Given the description of an element on the screen output the (x, y) to click on. 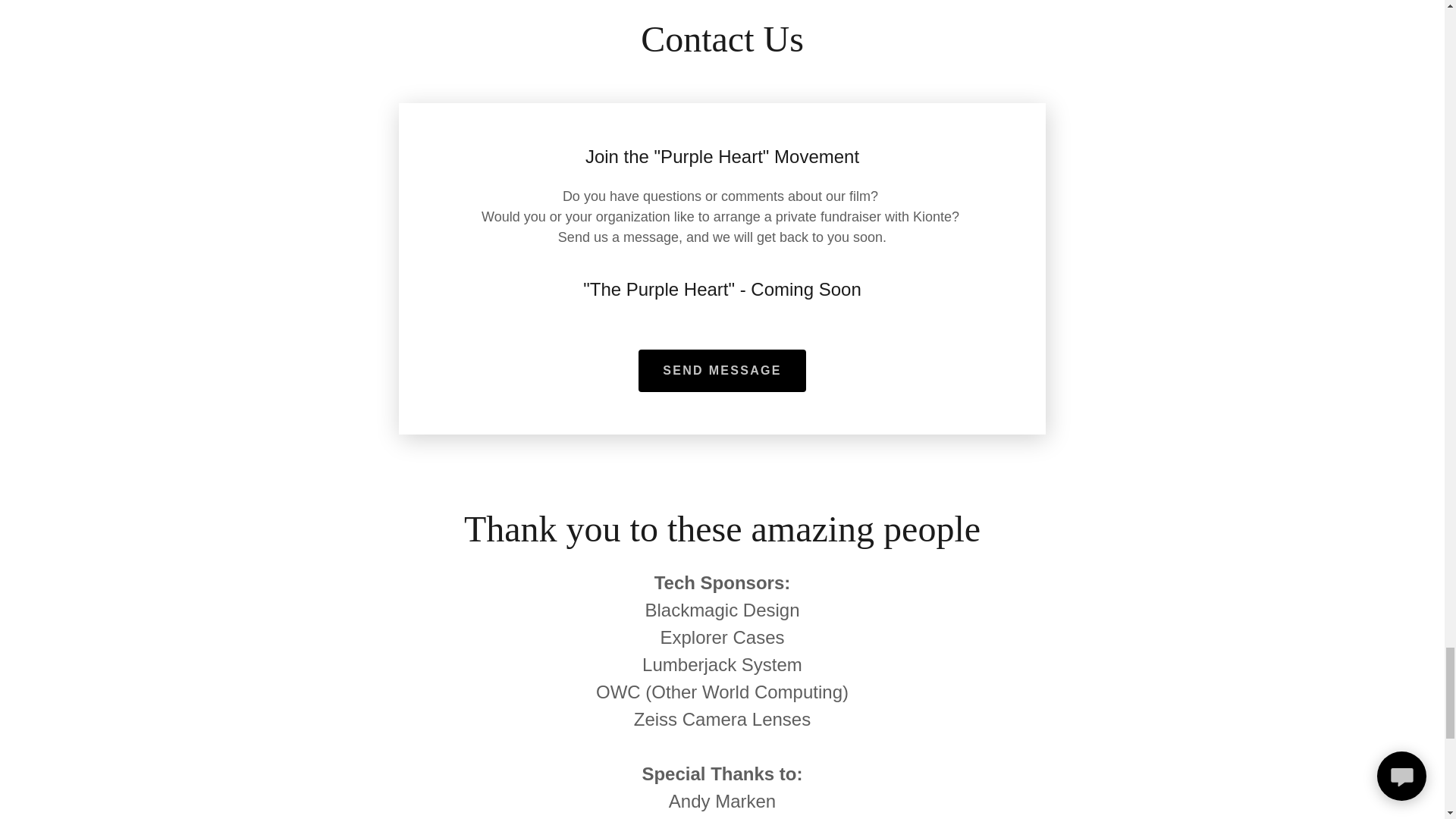
SEND MESSAGE (722, 370)
